Given the description of an element on the screen output the (x, y) to click on. 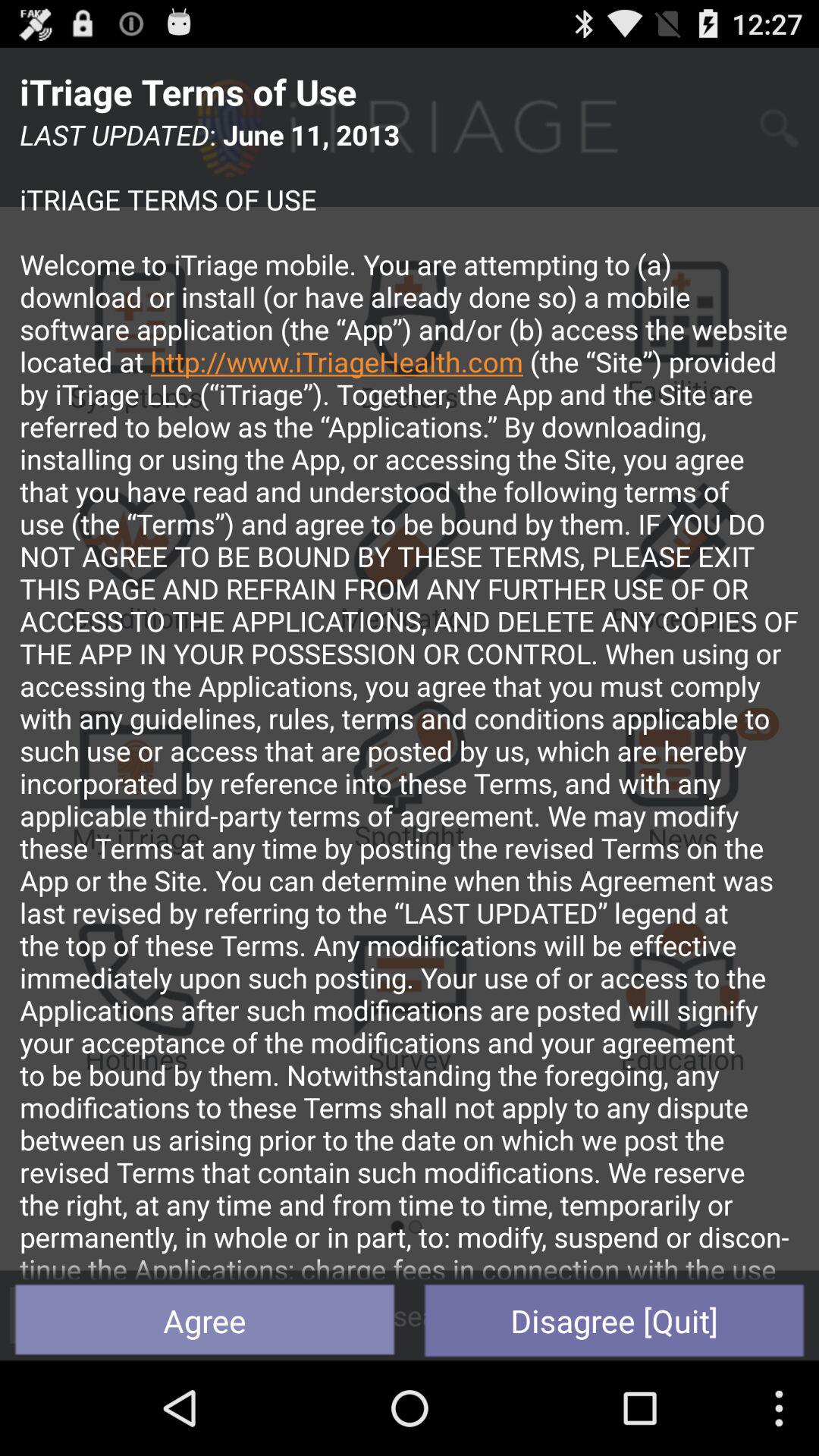
tap the icon at the bottom right corner (613, 1320)
